Given the description of an element on the screen output the (x, y) to click on. 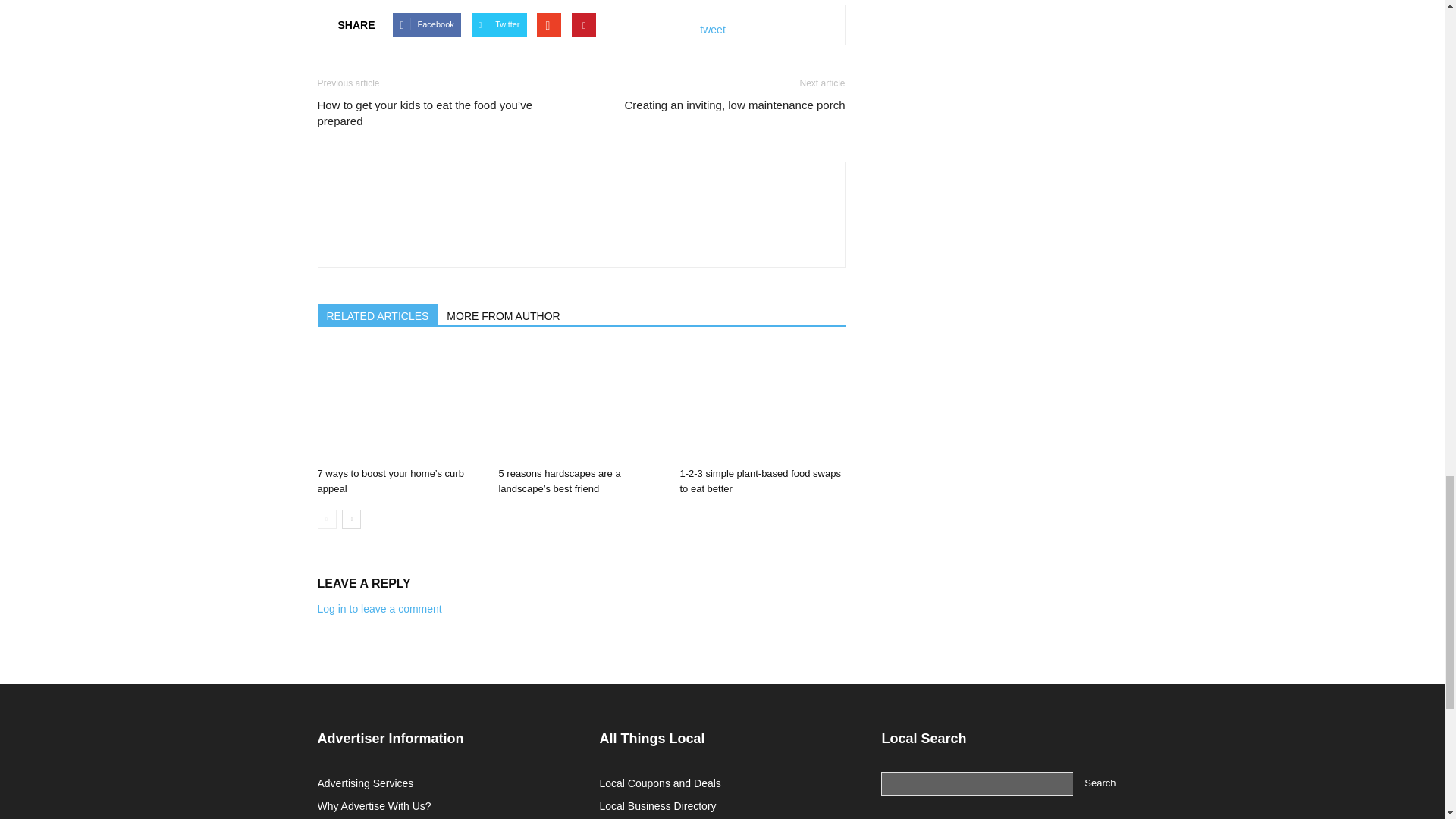
Search (1099, 784)
